Given the description of an element on the screen output the (x, y) to click on. 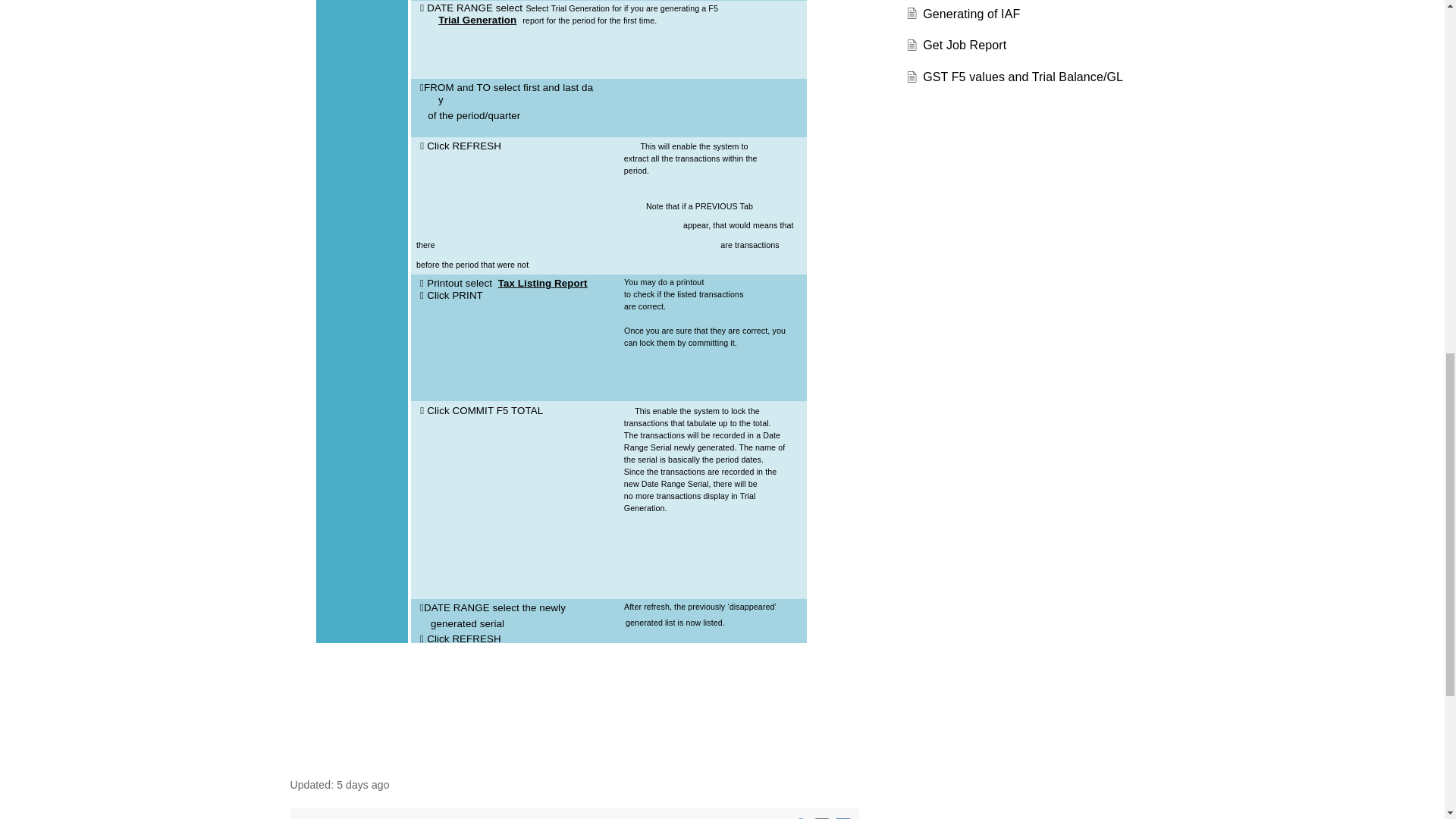
07 Aug 2024 03:14 PM (363, 784)
Get Job Report (964, 44)
Generating of IAF (971, 13)
